Given the description of an element on the screen output the (x, y) to click on. 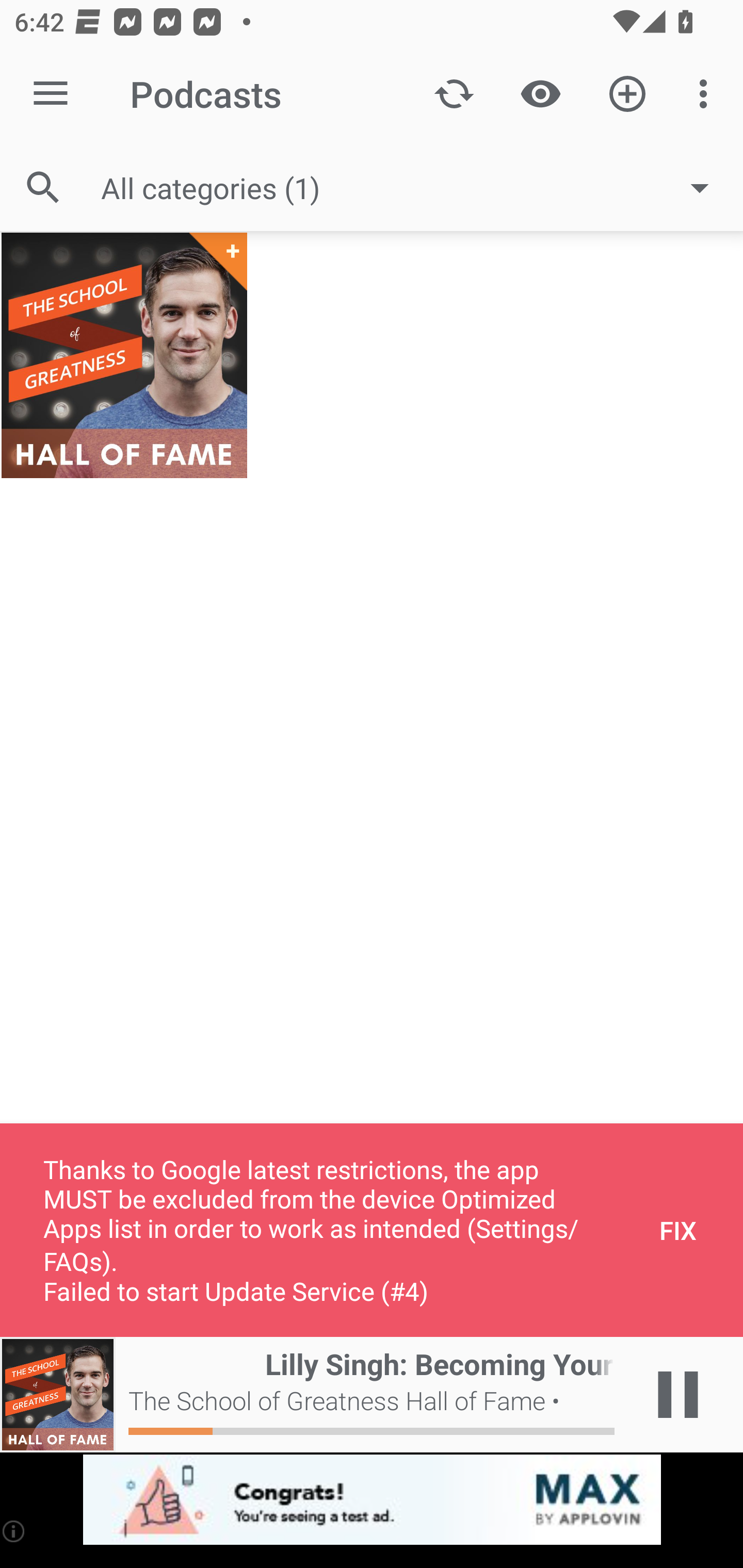
Open navigation sidebar (50, 93)
Update (453, 93)
Show / Hide played content (540, 93)
Add new Podcast (626, 93)
More options (706, 93)
Search (43, 187)
All categories (1) (414, 188)
The School of Greatness Hall of Fame + (124, 355)
FIX (677, 1229)
Play / Pause (677, 1394)
app-monetization (371, 1500)
(i) (14, 1531)
